Given the description of an element on the screen output the (x, y) to click on. 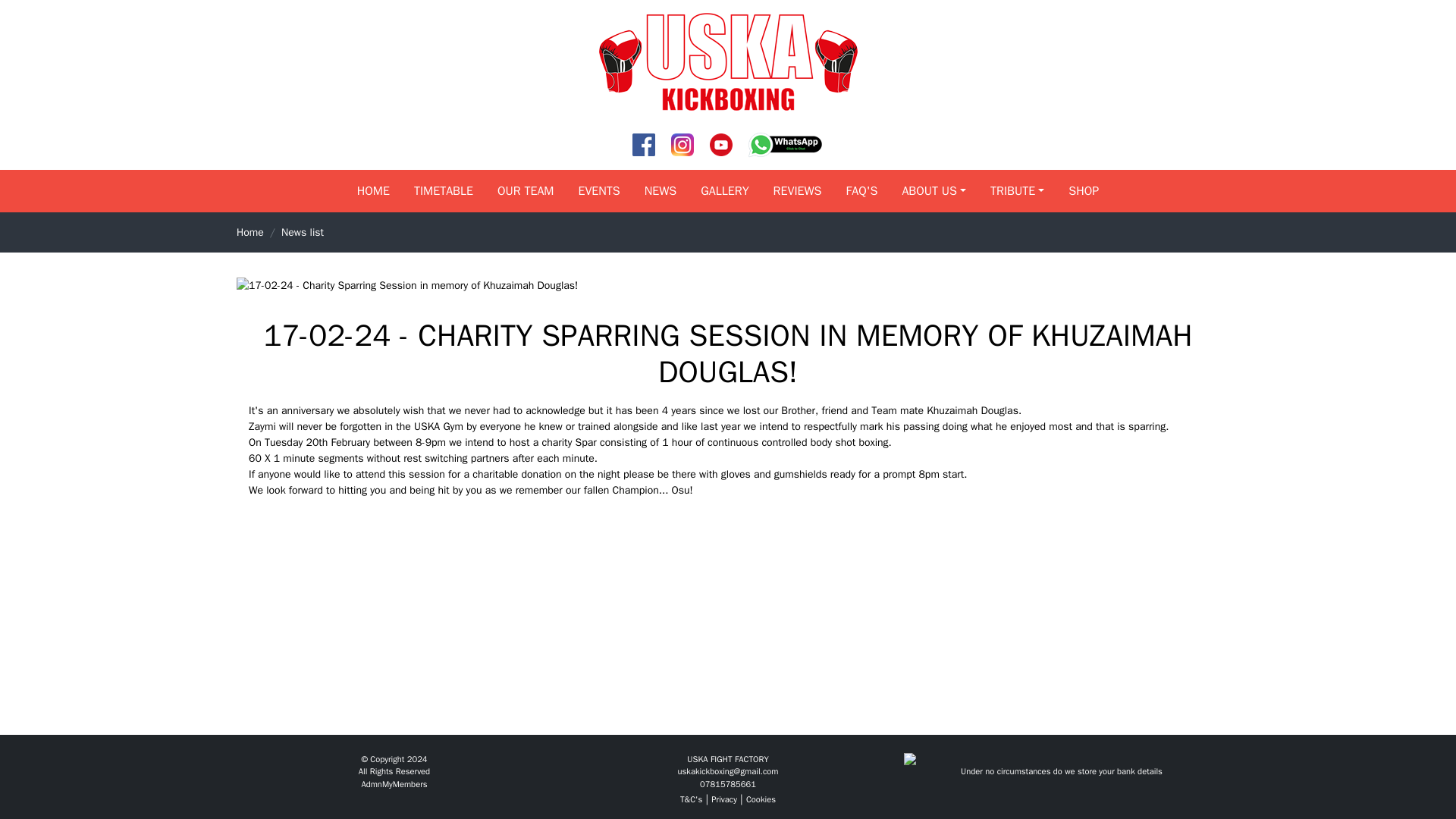
FAQ'S (861, 191)
ABOUT US (933, 191)
GALLERY (724, 191)
TIMETABLE (442, 191)
REVIEWS (797, 191)
NEWS (659, 191)
News list (302, 232)
AdmnMyMembers (393, 783)
WhatsApp USKA (786, 144)
TRIBUTE (1017, 191)
